Given the description of an element on the screen output the (x, y) to click on. 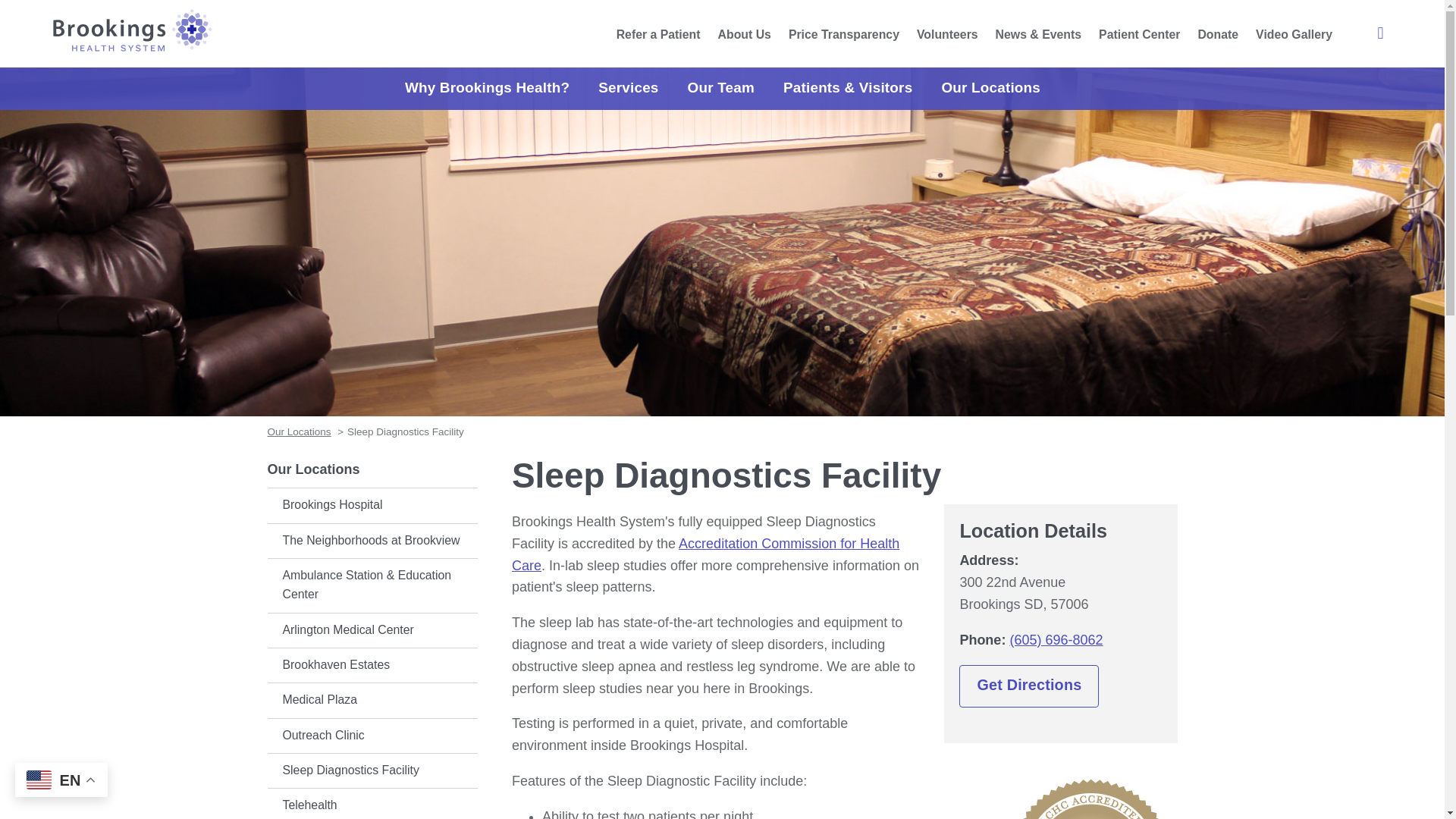
Patient Center (1139, 34)
Why Brookings Health? (485, 88)
Donate (1217, 34)
Services (627, 88)
Toggle search bar (1379, 33)
Price Transparency (843, 34)
Video Gallery (1294, 34)
About Us (744, 34)
Refer a Patient (658, 34)
Volunteers (947, 34)
